Given the description of an element on the screen output the (x, y) to click on. 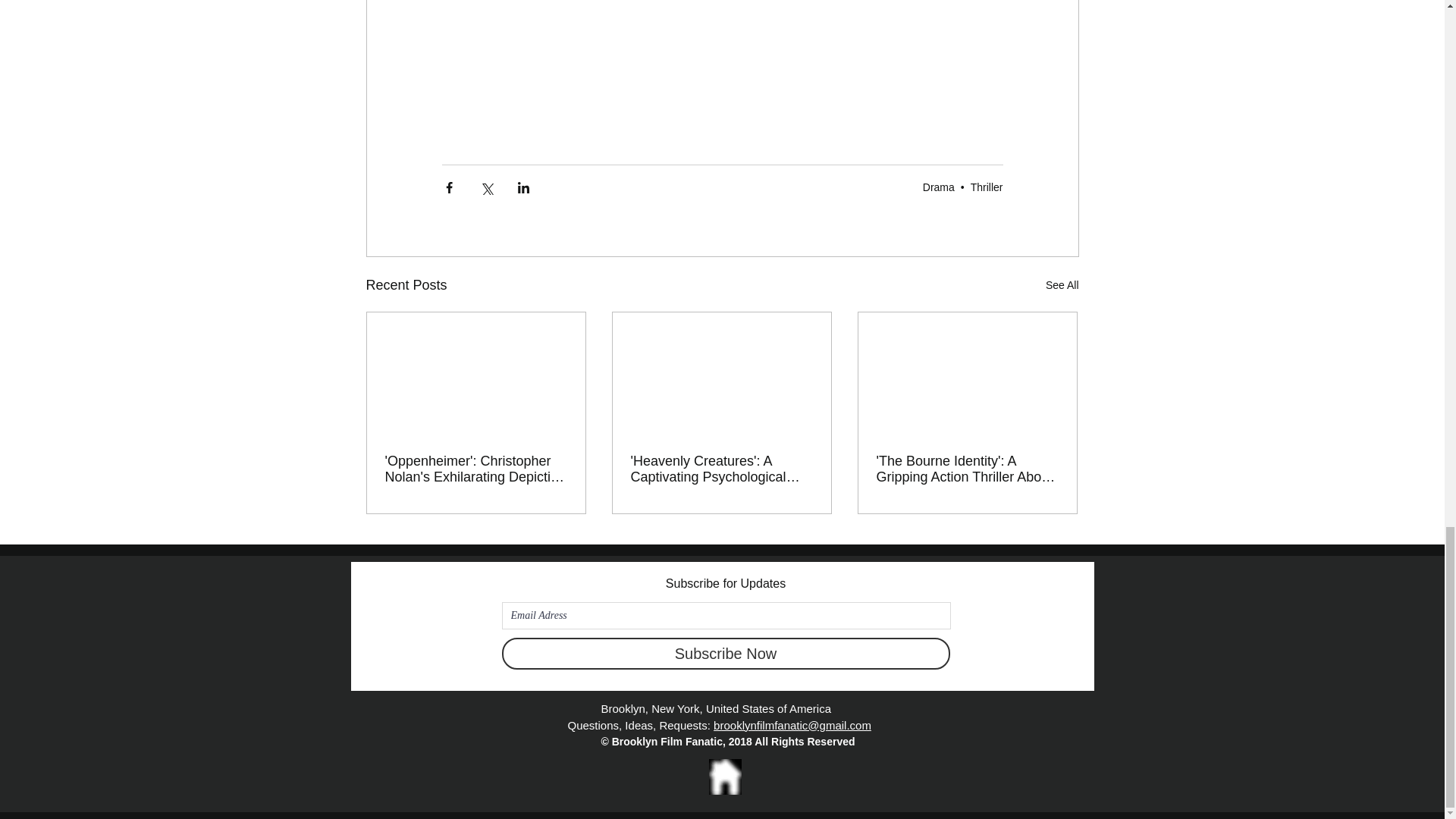
Drama (939, 186)
See All (1061, 285)
Subscribe Now (726, 653)
Thriller (987, 186)
